Given the description of an element on the screen output the (x, y) to click on. 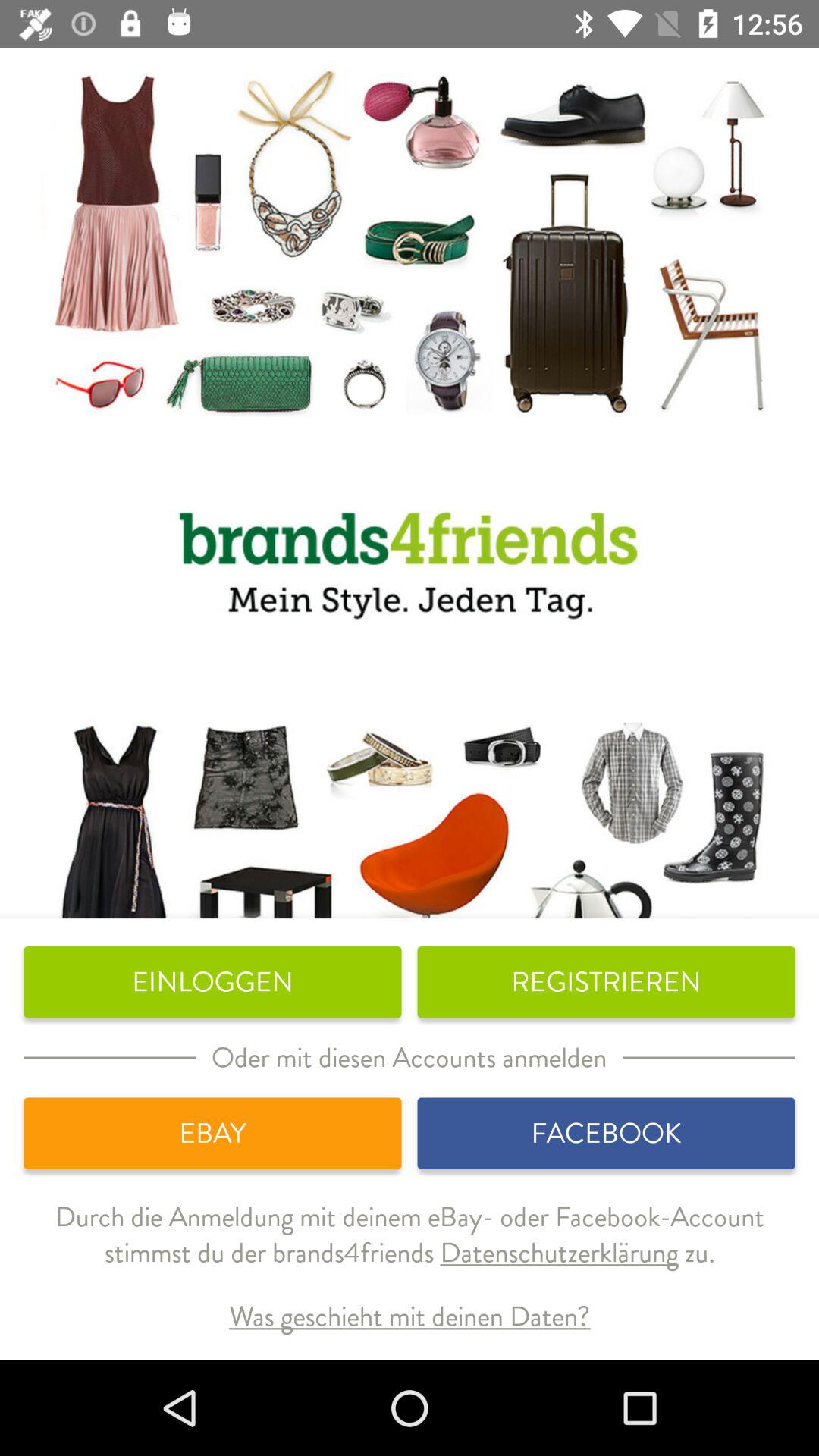
press the registrieren icon (606, 982)
